Given the description of an element on the screen output the (x, y) to click on. 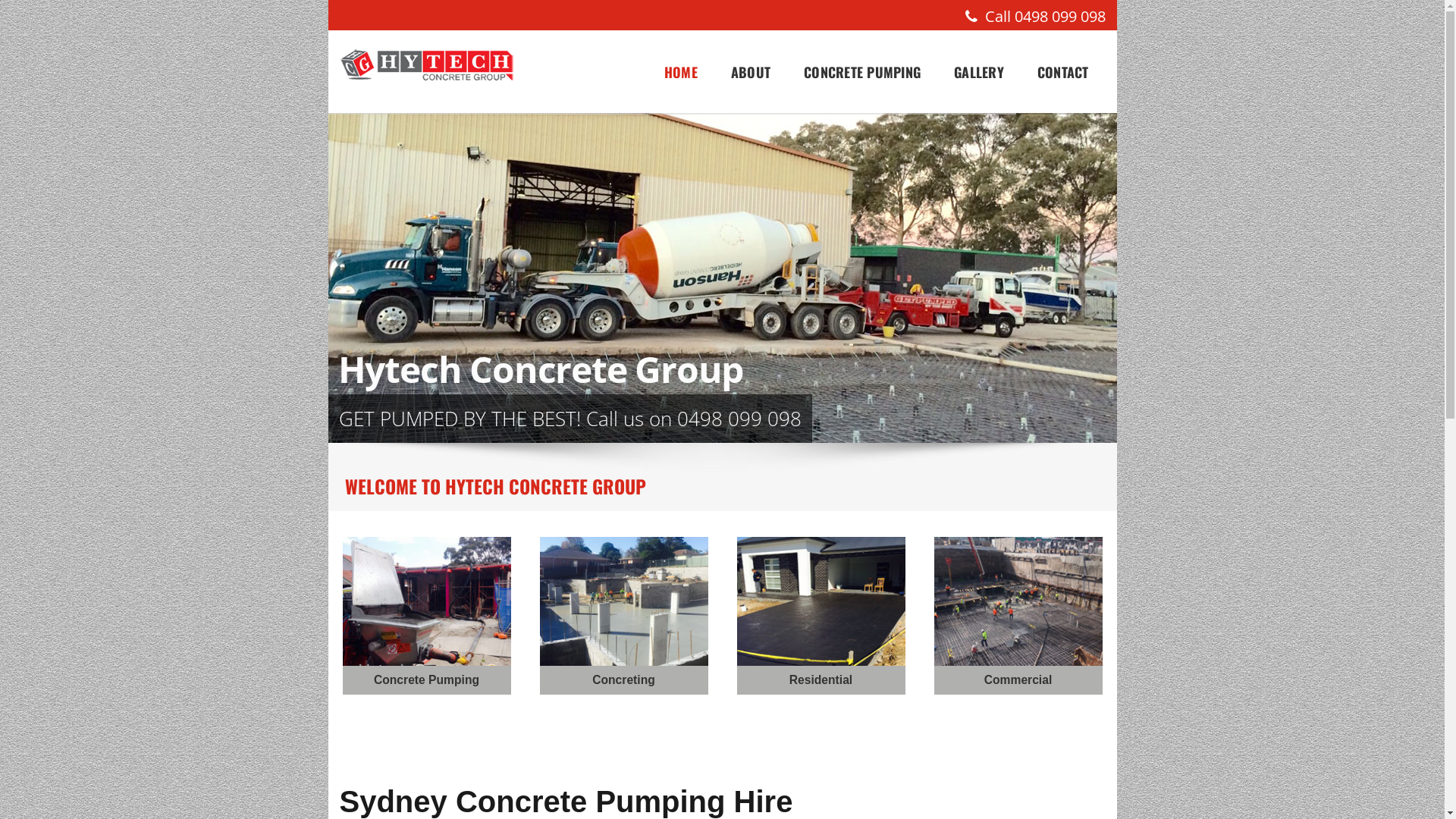
HOME Element type: text (680, 71)
CONCRETE PUMPING Element type: text (862, 71)
Concreting Element type: text (623, 679)
Commercial Element type: text (1018, 679)
CONTACT Element type: text (1062, 71)
0498 099 098 Element type: text (1059, 16)
Residential Element type: text (821, 679)
Concrete Pumping Element type: text (426, 679)
ABOUT Element type: text (750, 71)
Hytech Concrete Group Element type: hover (426, 65)
GALLERY Element type: text (978, 71)
